Given the description of an element on the screen output the (x, y) to click on. 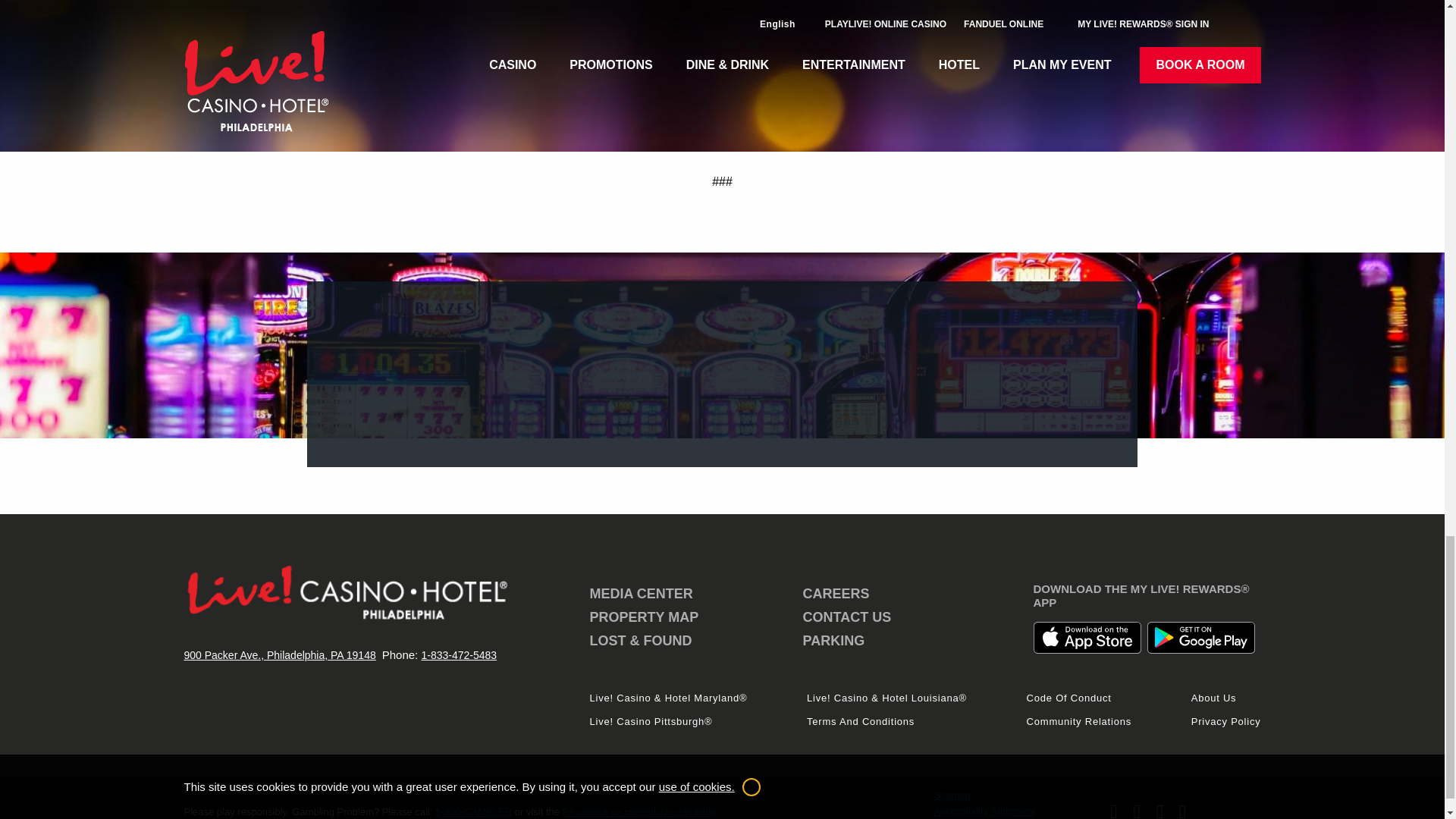
Property Map (643, 616)
Parking (833, 640)
Live! Casino Pittsburgh (651, 721)
Lost and Found (641, 640)
